Given the description of an element on the screen output the (x, y) to click on. 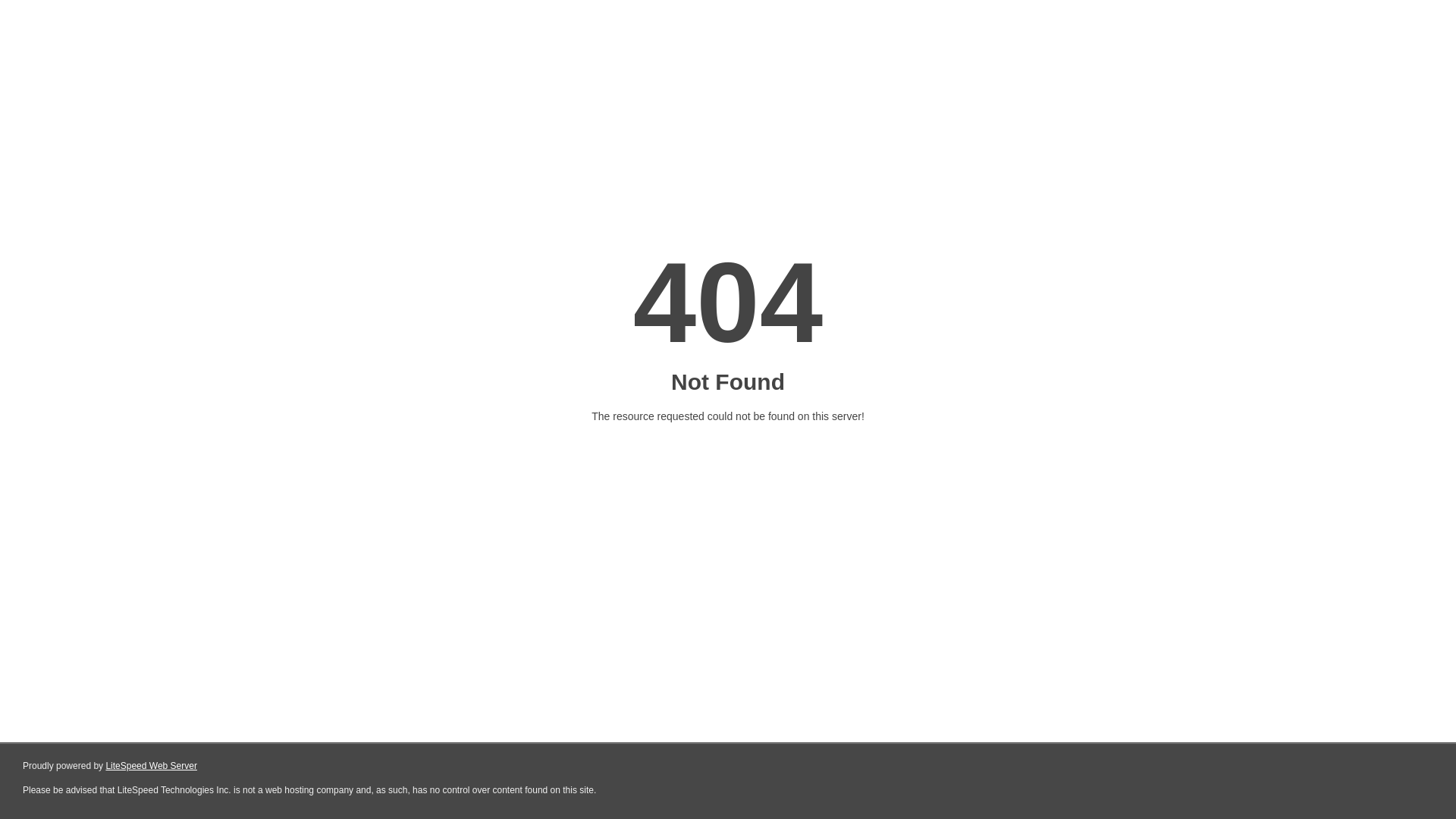
LiteSpeed Web Server (150, 765)
